Given the description of an element on the screen output the (x, y) to click on. 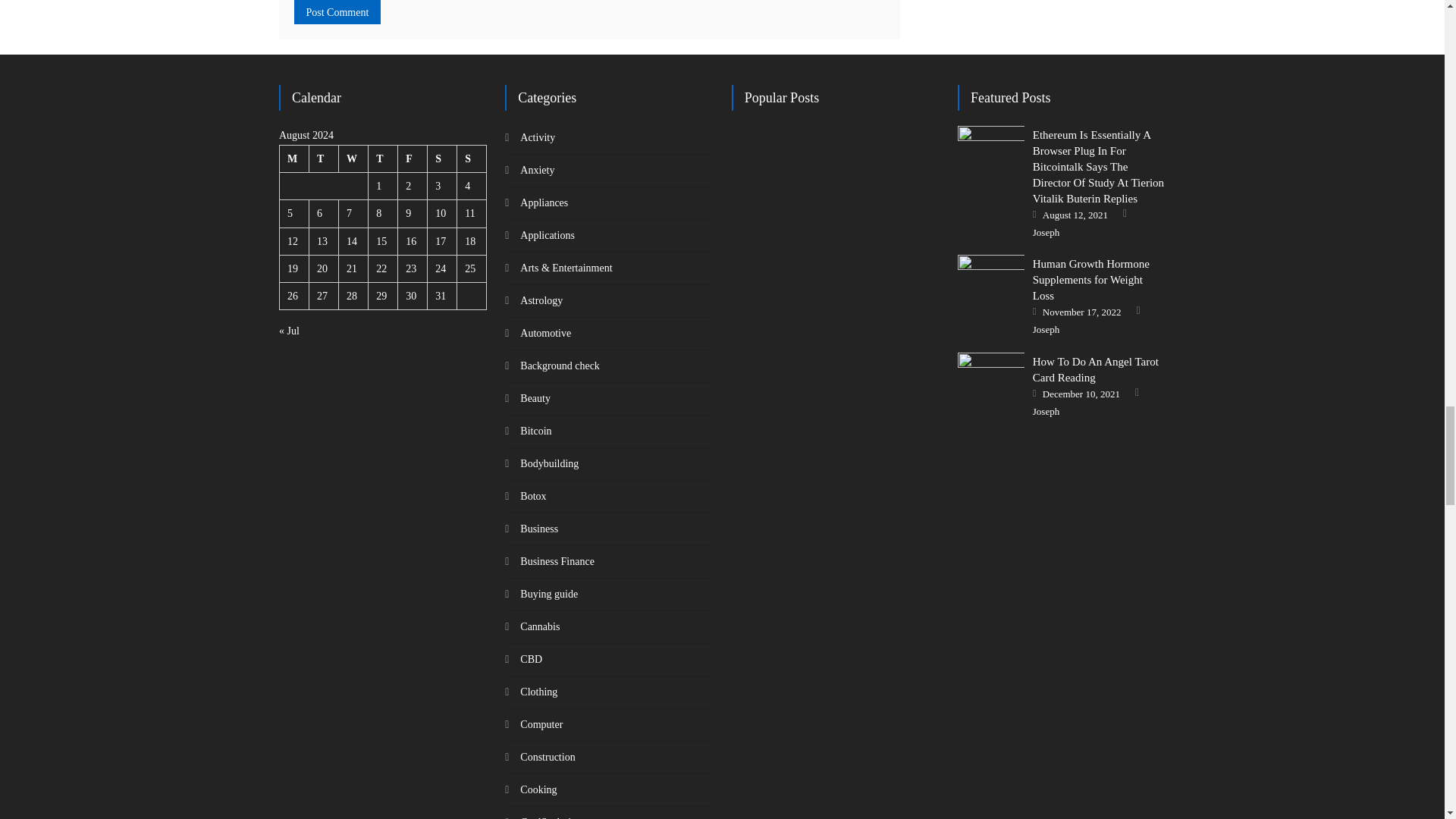
Saturday (442, 158)
Monday (293, 158)
Post Comment (337, 12)
Wednesday (353, 158)
Thursday (382, 158)
Sunday (471, 158)
Friday (412, 158)
Tuesday (323, 158)
